Given the description of an element on the screen output the (x, y) to click on. 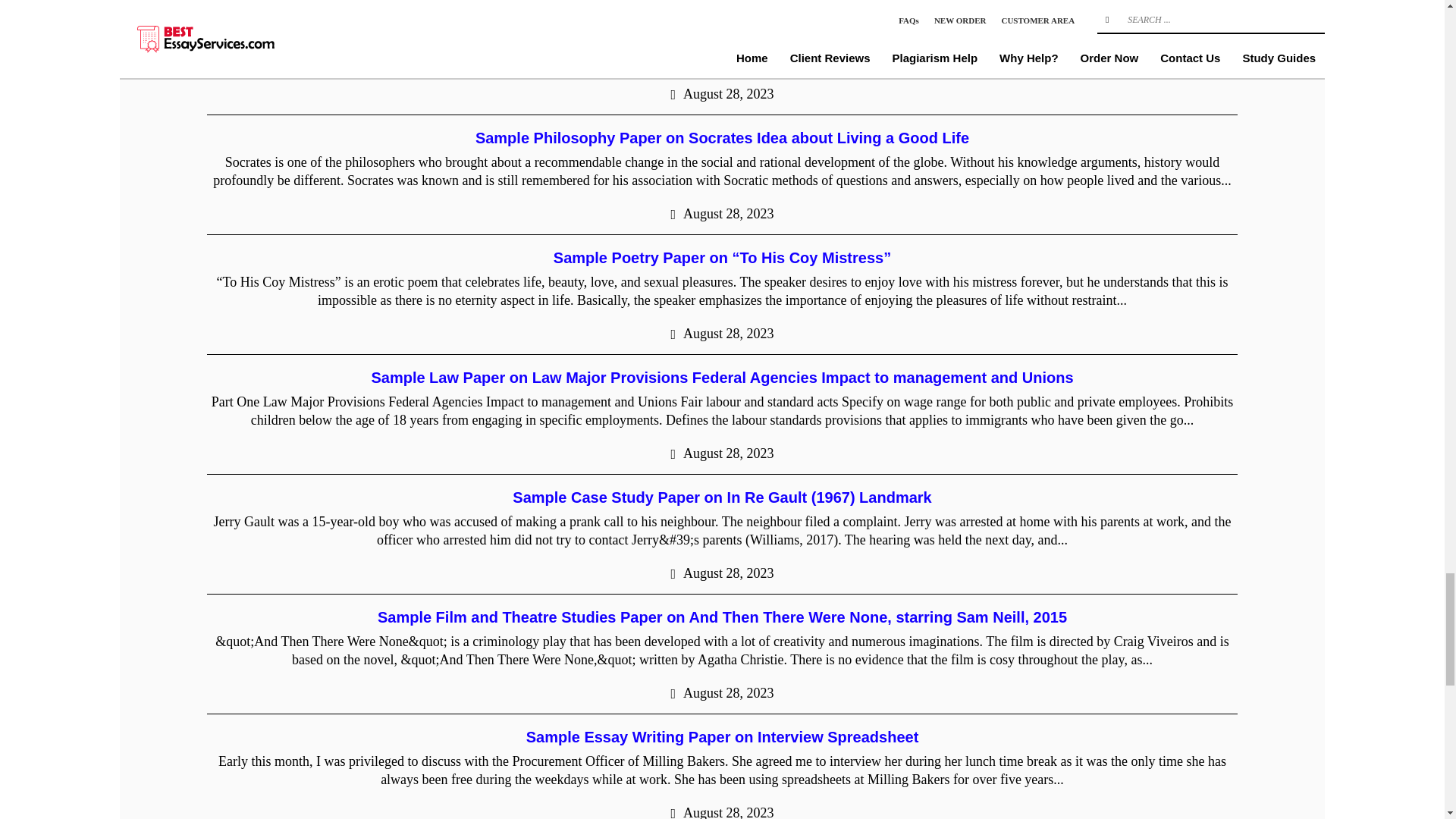
Sample Essay Writing Paper on Interview Spreadsheet (721, 736)
